Given the description of an element on the screen output the (x, y) to click on. 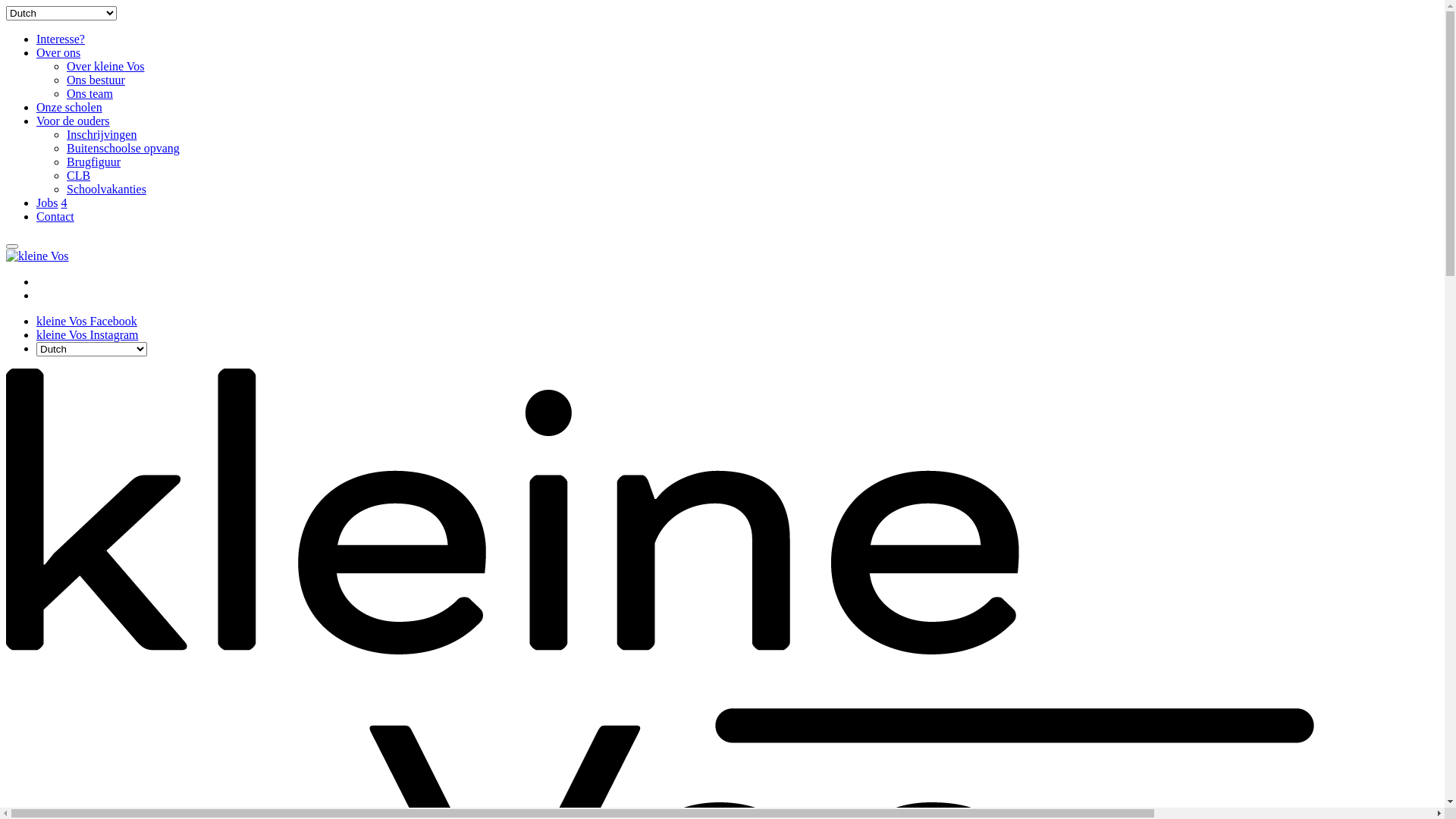
Buitenschoolse opvang Element type: text (122, 147)
kleine Vos Instagram Element type: text (87, 334)
Onze scholen Element type: text (69, 106)
kleine Vos Element type: hover (37, 255)
CLB Element type: text (78, 175)
Schoolvakanties Element type: text (106, 188)
Interesse? Element type: text (60, 38)
Over kleine Vos Element type: text (105, 65)
Voor de ouders Element type: text (72, 120)
Inschrijvingen Element type: text (101, 134)
Ons team Element type: text (89, 93)
kleine Vos Facebook Element type: text (86, 320)
4 Element type: text (63, 202)
Brugfiguur Element type: text (93, 161)
Over ons Element type: text (58, 52)
Jobs Element type: text (46, 202)
Contact Element type: text (55, 216)
Ons bestuur Element type: text (95, 79)
